Given the description of an element on the screen output the (x, y) to click on. 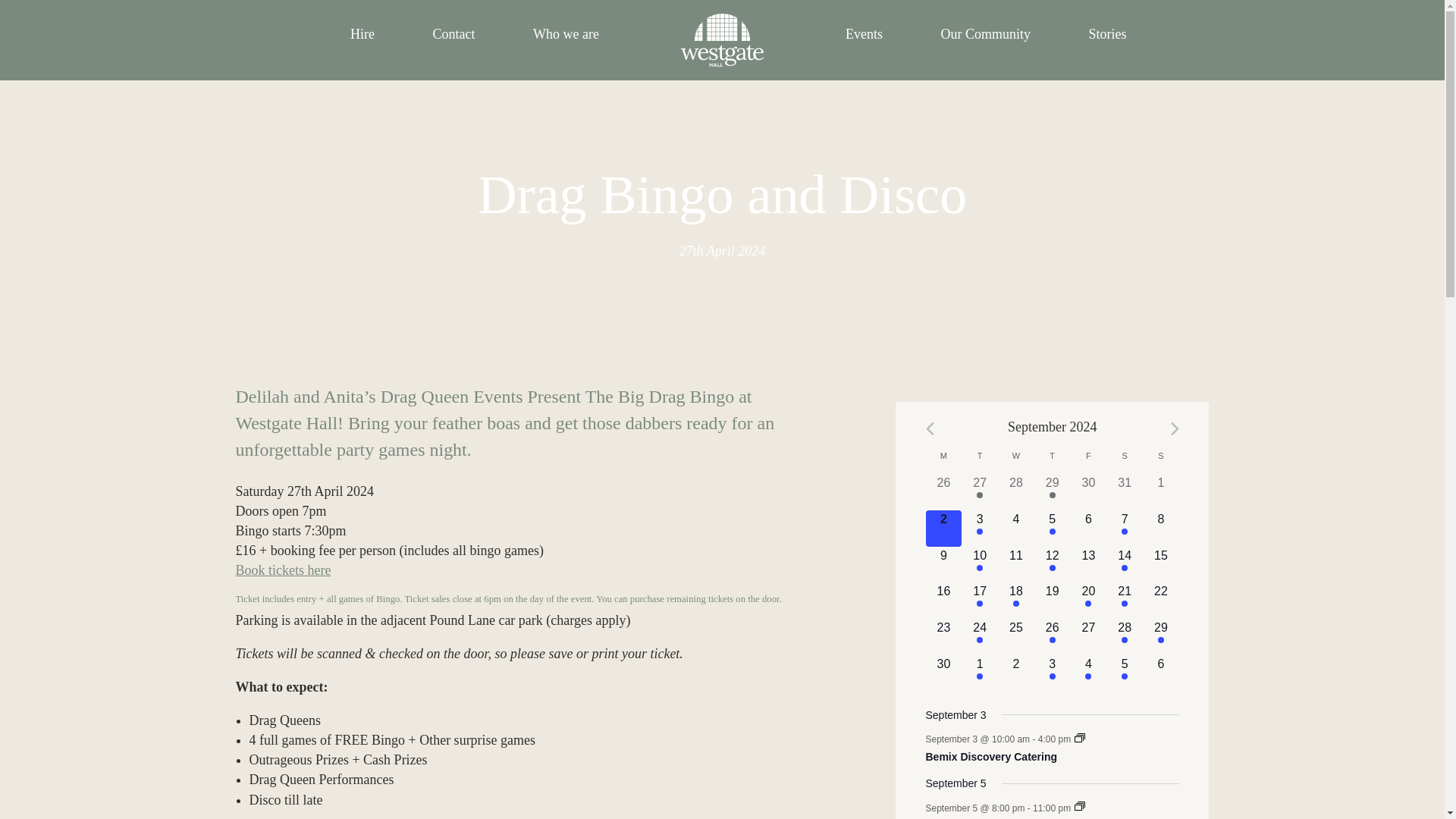
Event Series (1051, 492)
Stories (1079, 805)
Has events (1107, 33)
Hire (1052, 494)
Who we are (362, 33)
Book tickets here (565, 33)
Our Community (282, 570)
Has events (984, 33)
Events (979, 531)
